Given the description of an element on the screen output the (x, y) to click on. 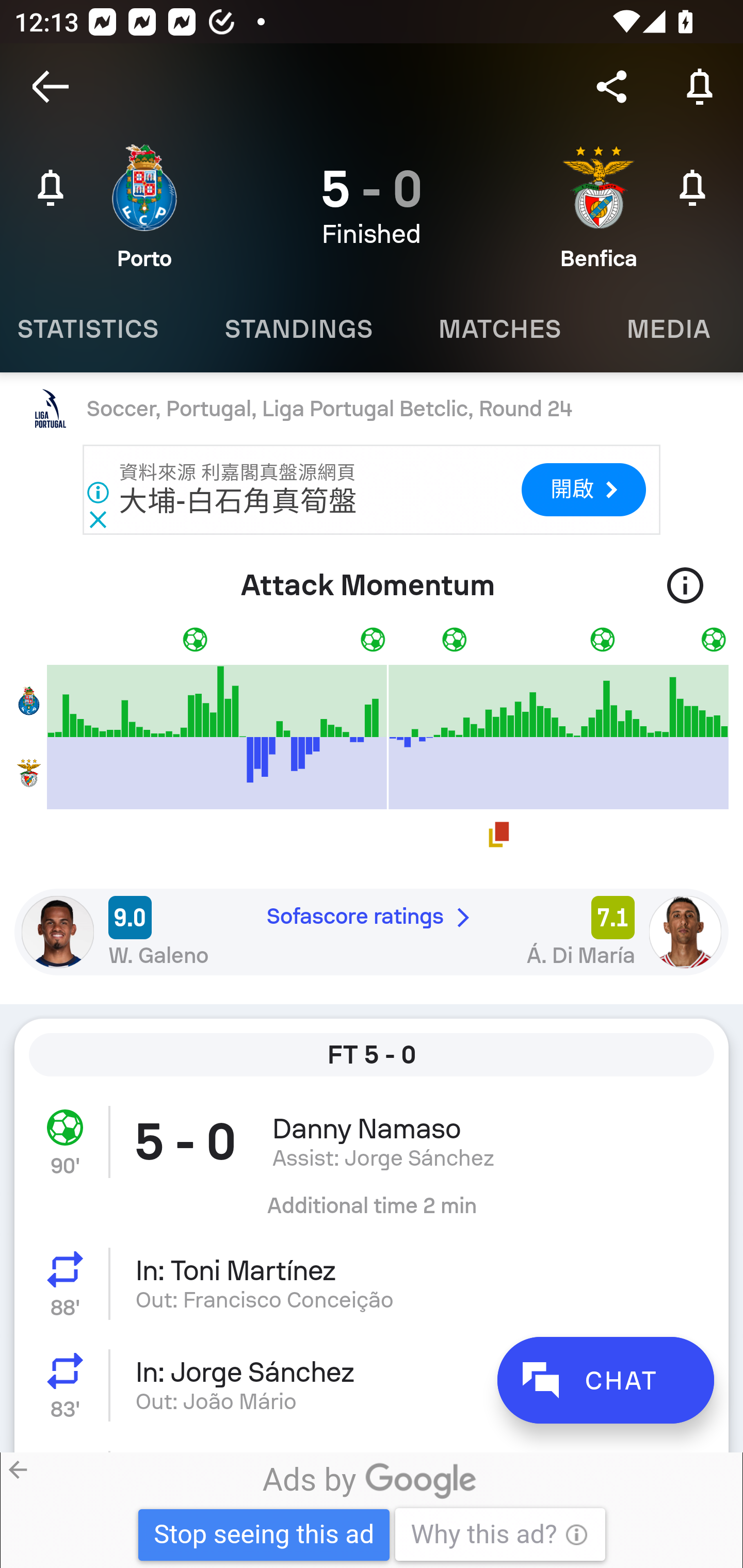
Navigate up (50, 86)
Statistics STATISTICS (95, 329)
Standings STANDINGS (297, 329)
Matches MATCHES (498, 329)
Media MEDIA (668, 329)
Soccer, Portugal, Liga Portugal Betclic, Round 24 (371, 409)
資料來源 利嘉閣真盤源網頁 (237, 472)
開啟 (583, 489)
大埔-白石角真筍盤 (238, 501)
9.0 Sofascore ratings 7.1 W. Galeno Á. Di María (371, 932)
FT 5 - 0 (371, 1055)
Additional time 2 min (371, 1212)
Substitution In: Jorge Sánchez 83' Out: João Mário (371, 1385)
CHAT (605, 1380)
